Given the description of an element on the screen output the (x, y) to click on. 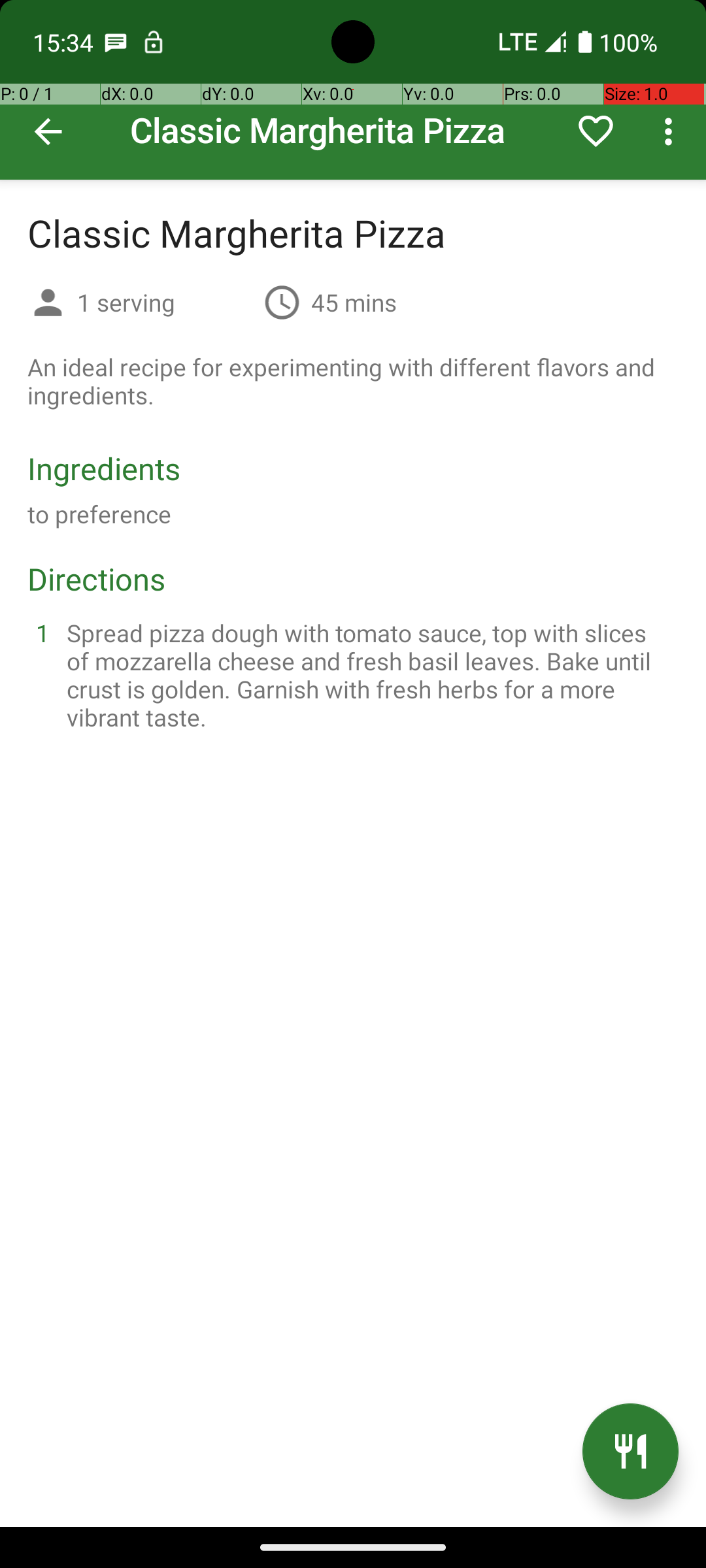
Spread pizza dough with tomato sauce, top with slices of mozzarella cheese and fresh basil leaves. Bake until crust is golden. Garnish with fresh herbs for a more vibrant taste. Element type: android.widget.TextView (368, 674)
